Given the description of an element on the screen output the (x, y) to click on. 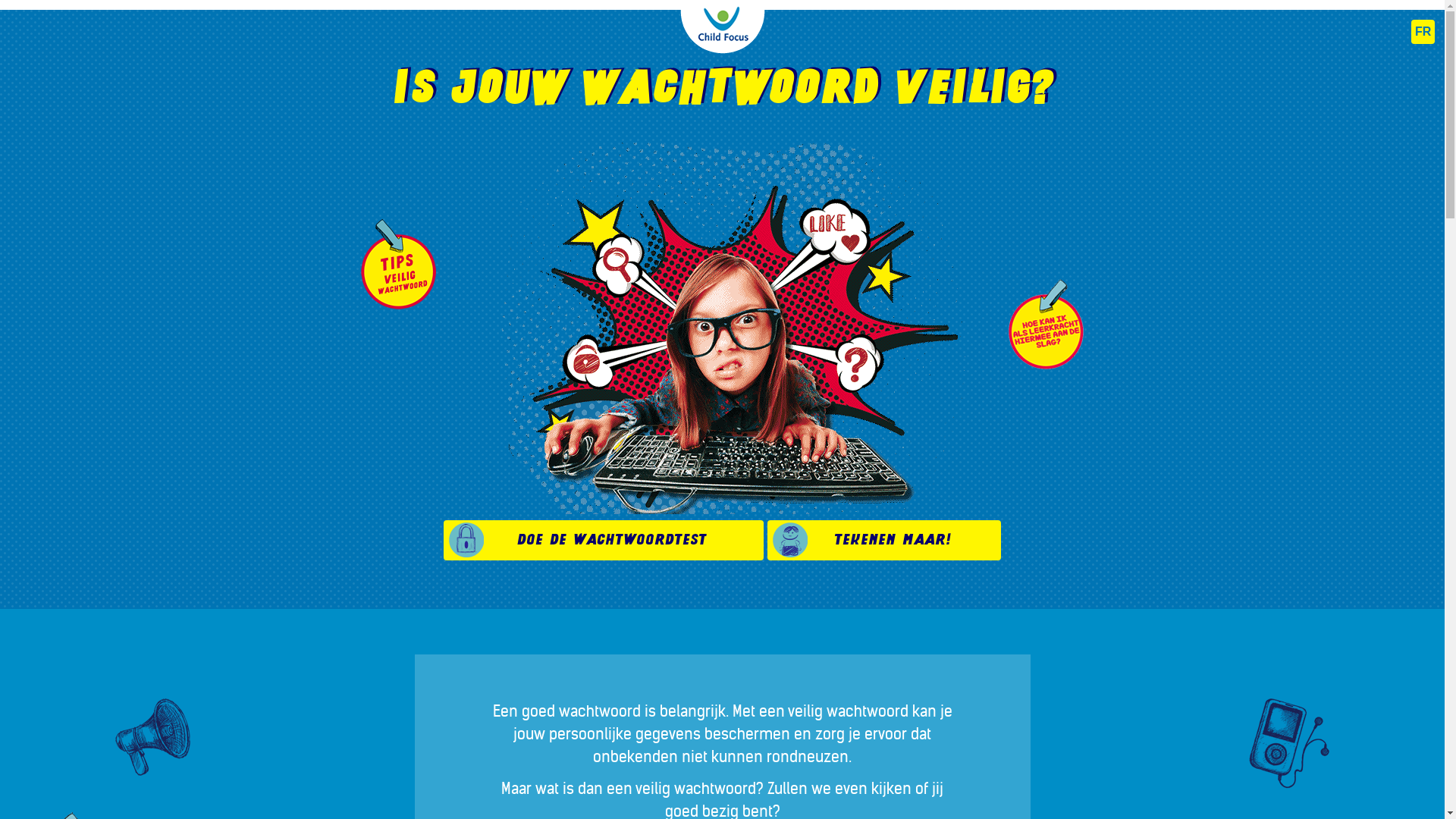
Tekenen maar! Element type: text (884, 540)
FR Element type: text (1422, 31)
Doe de wachtwoordtest Element type: text (603, 540)
